Given the description of an element on the screen output the (x, y) to click on. 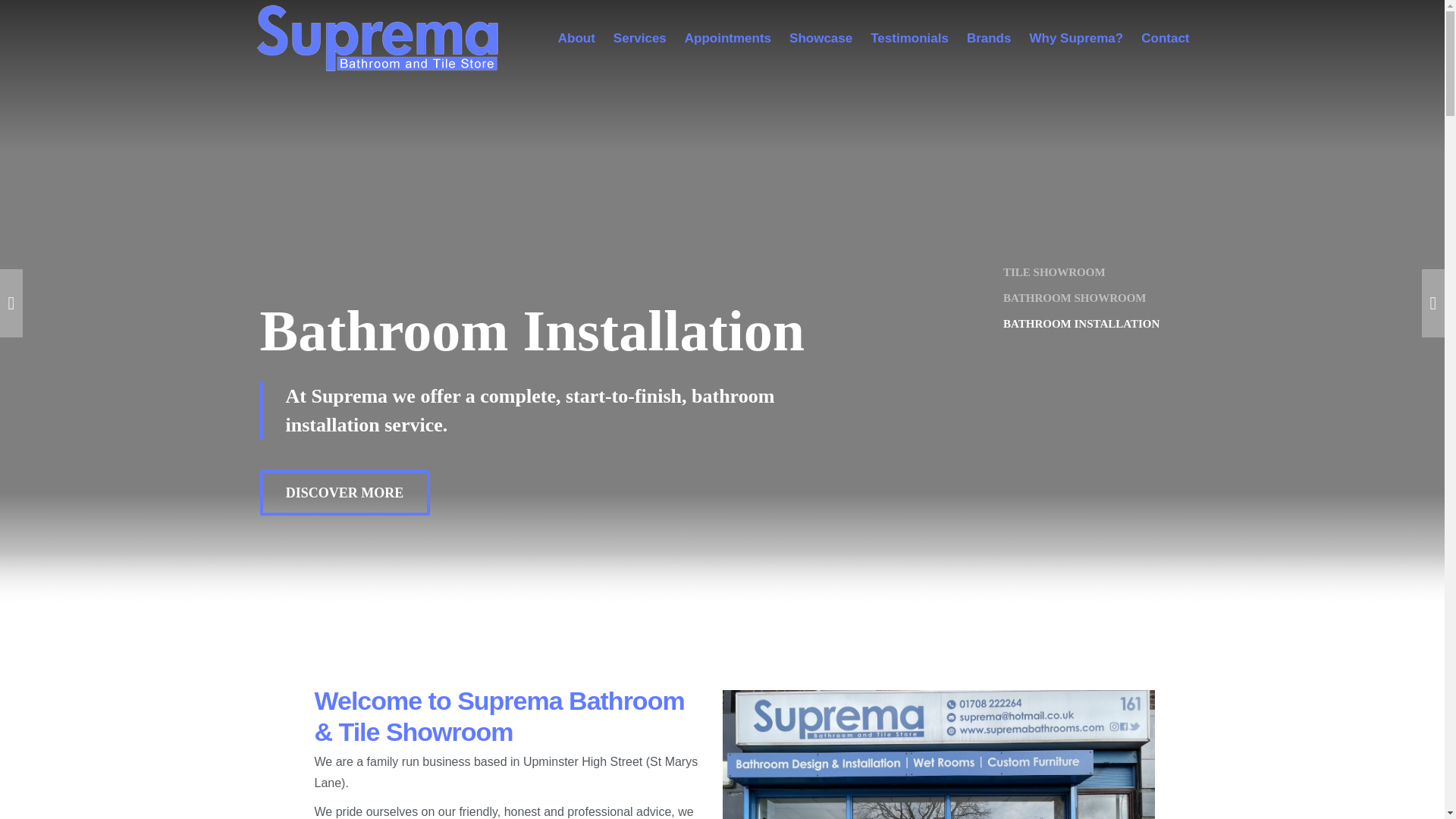
Showcase (821, 37)
DISCOVER MORE (344, 492)
Services (639, 37)
Testimonials (909, 37)
Why Suprema? (1075, 37)
Appointments (727, 37)
Brands (988, 37)
About (576, 37)
Contact (1165, 37)
